Given the description of an element on the screen output the (x, y) to click on. 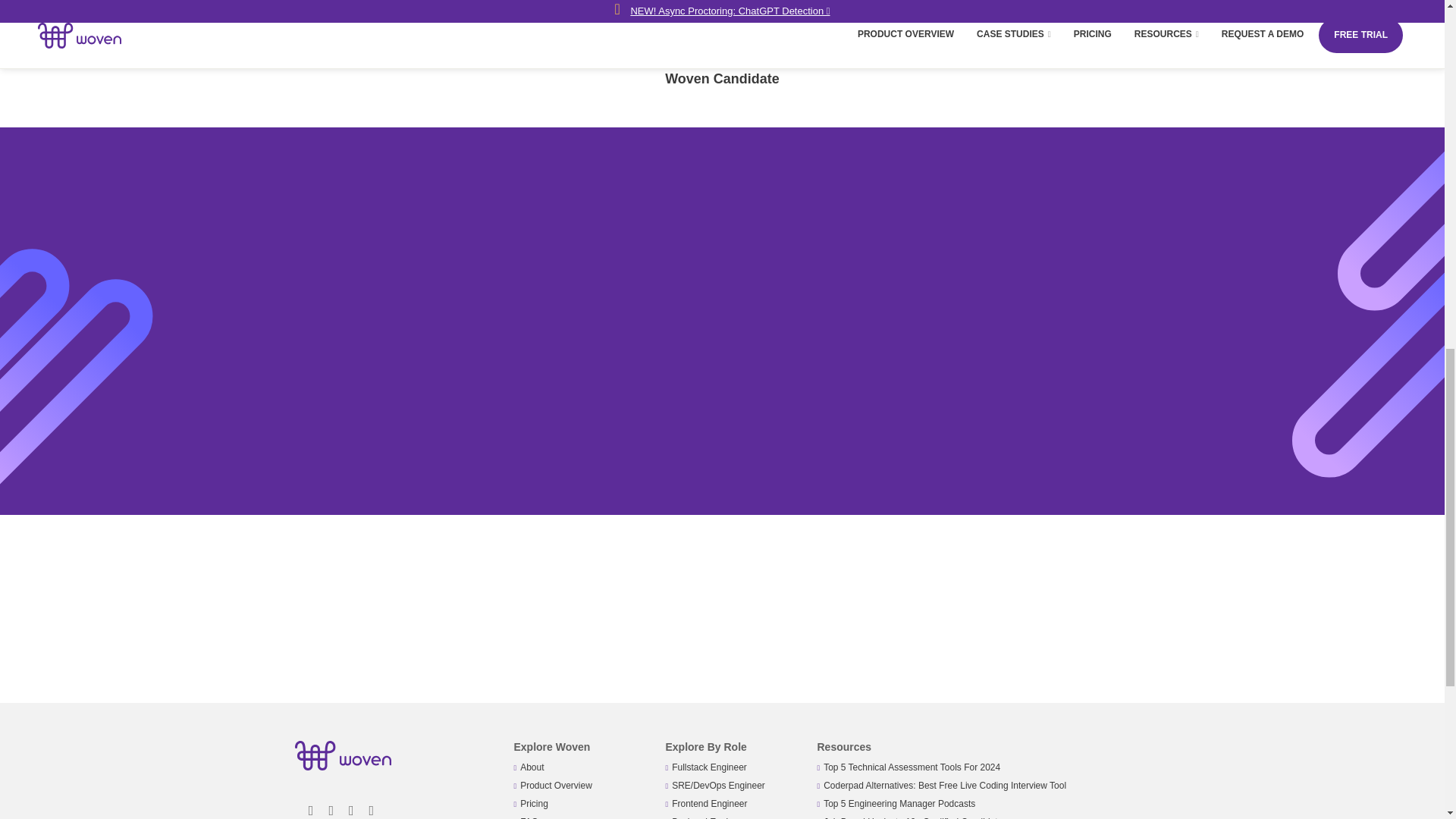
About (531, 767)
Product Overview (555, 785)
Pricing (533, 803)
FAQs (531, 817)
